Given the description of an element on the screen output the (x, y) to click on. 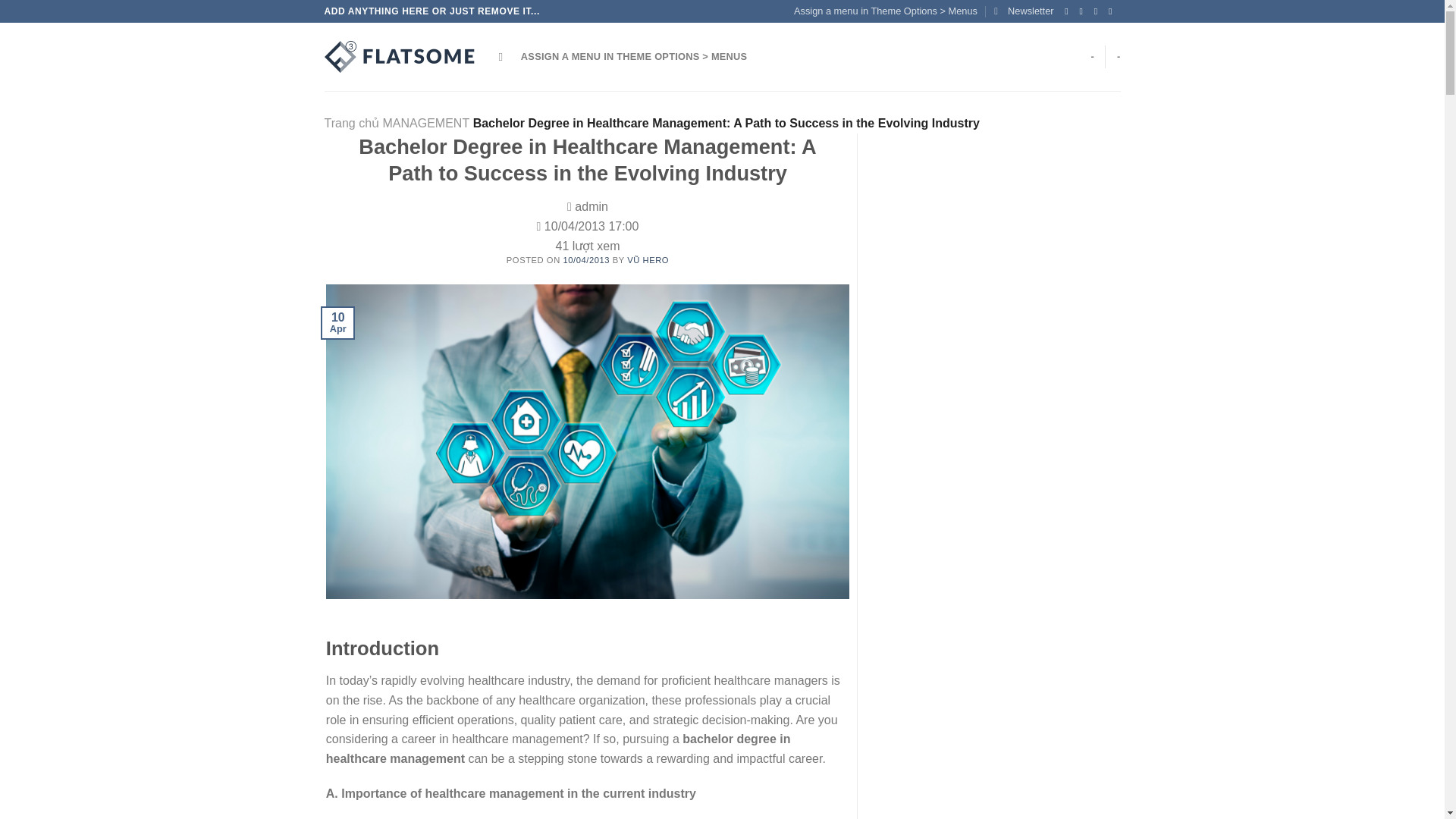
- (1118, 56)
Follow on Facebook (1069, 10)
Sign up for Newsletter (1023, 11)
Follow on Twitter (1098, 10)
MANAGEMENT (424, 123)
Newsletter (1023, 11)
Send us an email (1113, 10)
WooCommerce needed (1118, 56)
WooCommerce needed (1092, 56)
- (1092, 56)
Follow on Instagram (1084, 10)
